Given the description of an element on the screen output the (x, y) to click on. 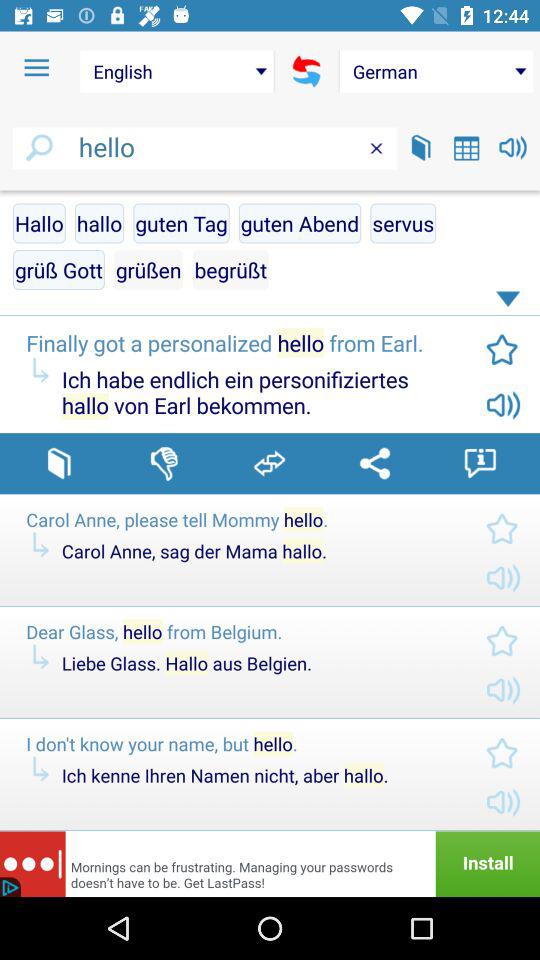
clear the text (376, 148)
